Given the description of an element on the screen output the (x, y) to click on. 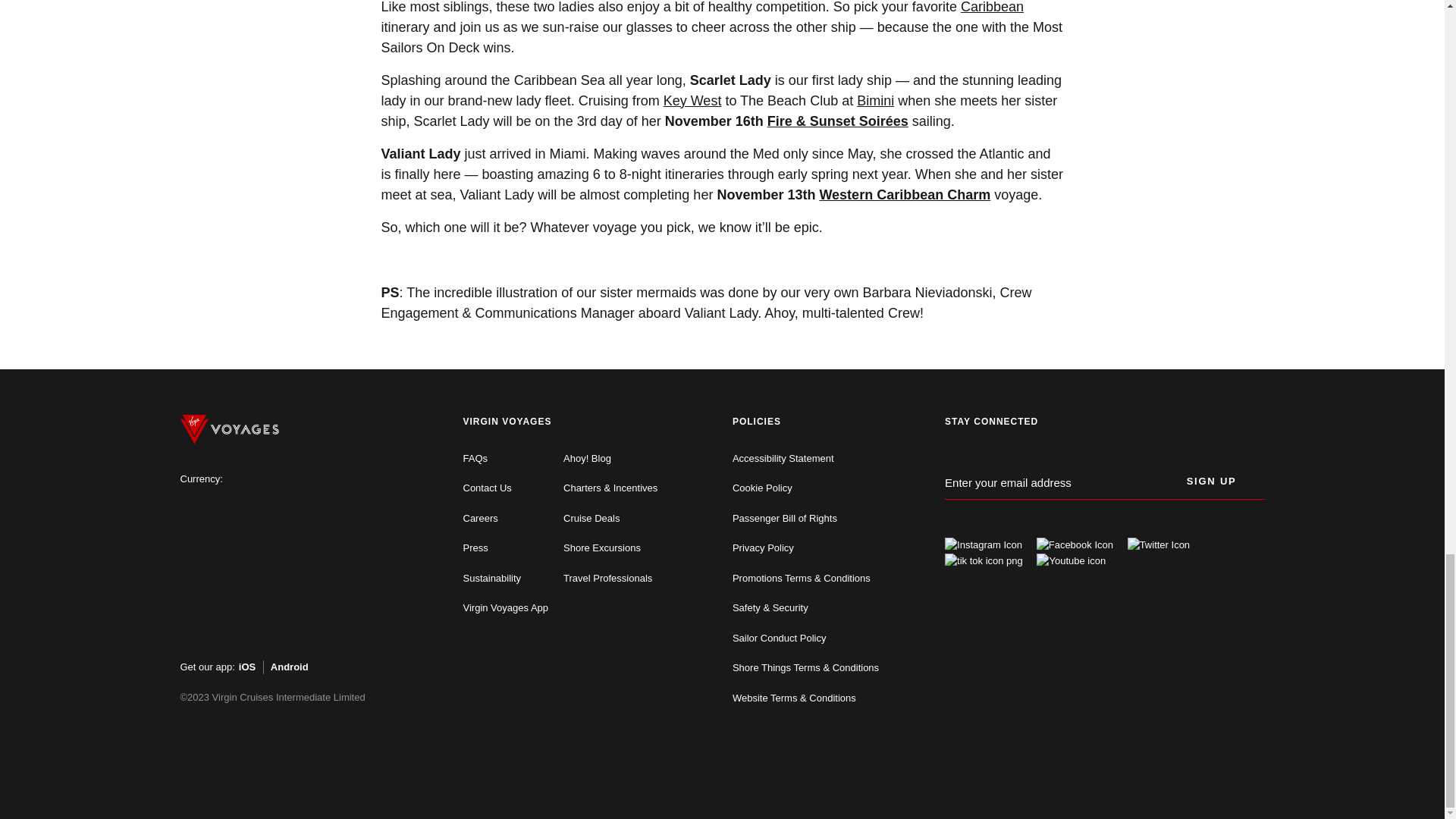
Key West (692, 100)
Caribbean (991, 7)
Bimini (875, 100)
Western Caribbean Charm (904, 194)
